Given the description of an element on the screen output the (x, y) to click on. 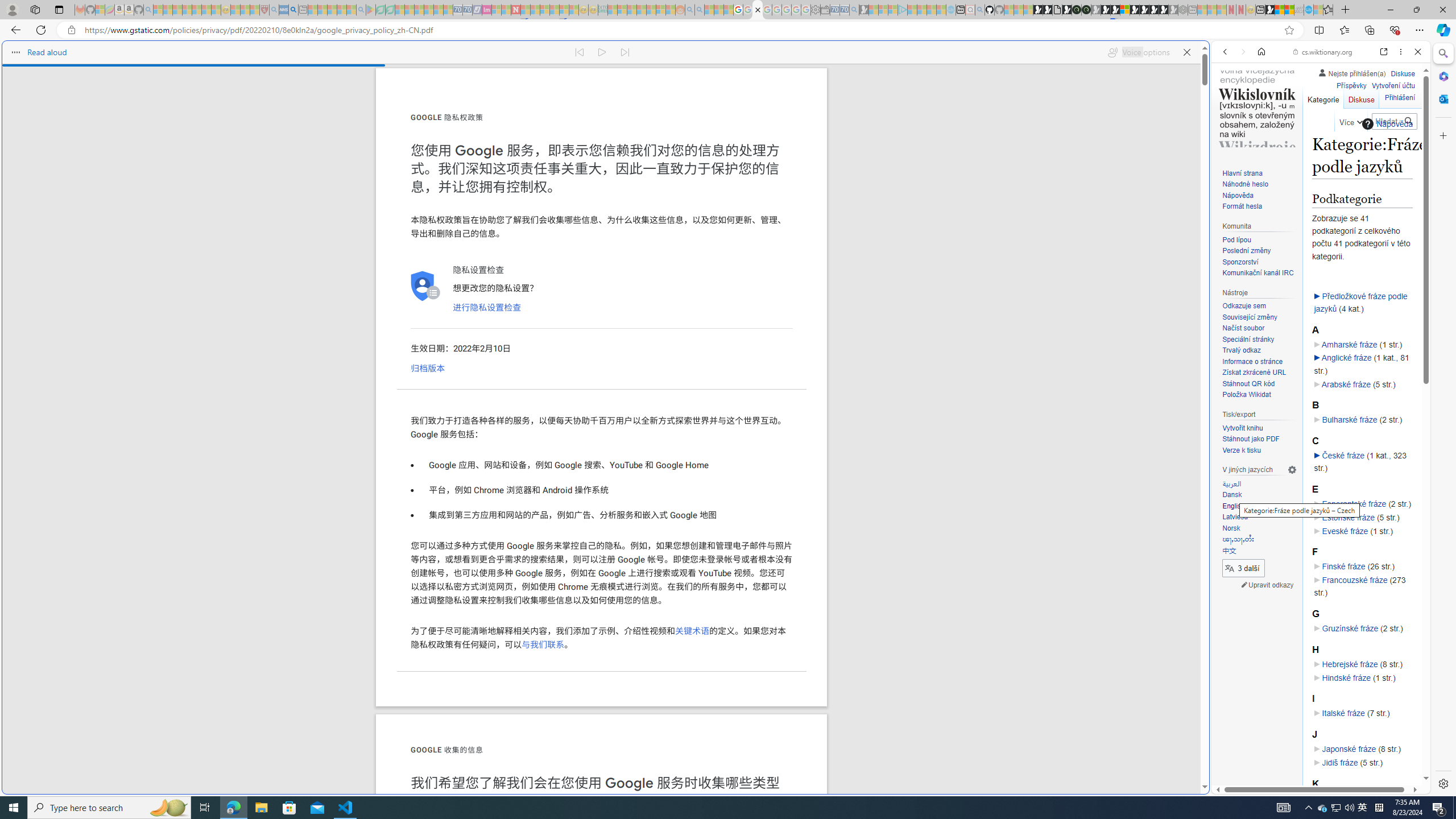
Continue to read aloud (Ctrl+Shift+U) (602, 52)
Close split screen (1208, 57)
Upravit odkazy (1267, 585)
Sign in to your account (1124, 9)
